Given the description of an element on the screen output the (x, y) to click on. 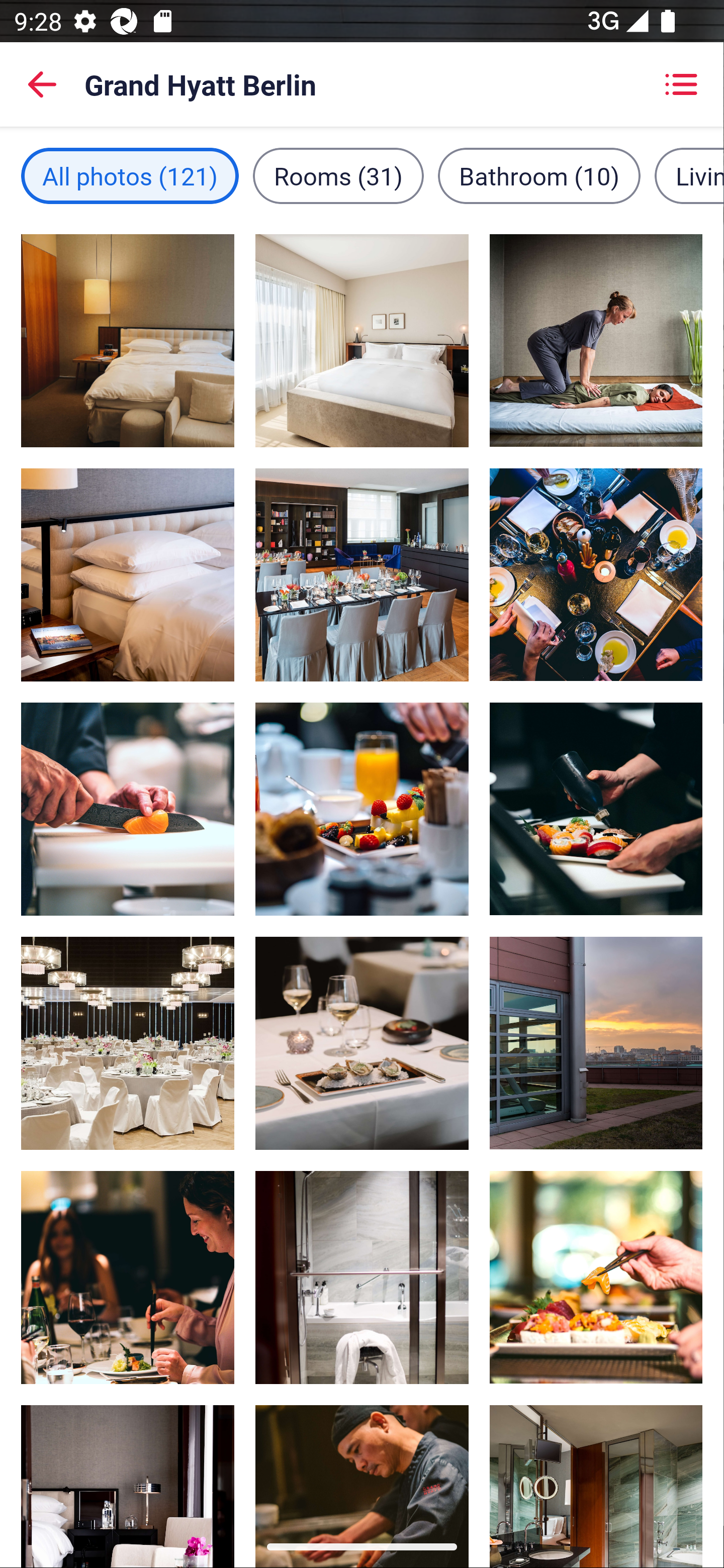
Back (42, 84)
Showing grid view (681, 84)
All photos filter, 121 images (129, 175)
Rooms filter, 31 images (337, 175)
Bathroom filter, 10 images (539, 175)
Living area filter, 12 images (688, 175)
Meeting facility, image (361, 575)
2 restaurants, Asian cuisine, image (595, 574)
2 restaurants, Asian cuisine, image (127, 808)
2 restaurants, Asian cuisine, image (361, 808)
2 restaurants, Asian cuisine, image (595, 808)
Lobby, image (127, 1042)
2 restaurants, Asian cuisine, image (361, 1042)
Fitness facility, image (595, 1042)
2 restaurants, Asian cuisine, image (127, 1277)
2 restaurants, Asian cuisine, image (595, 1276)
2 restaurants, Asian cuisine, image (361, 1464)
